Given the description of an element on the screen output the (x, y) to click on. 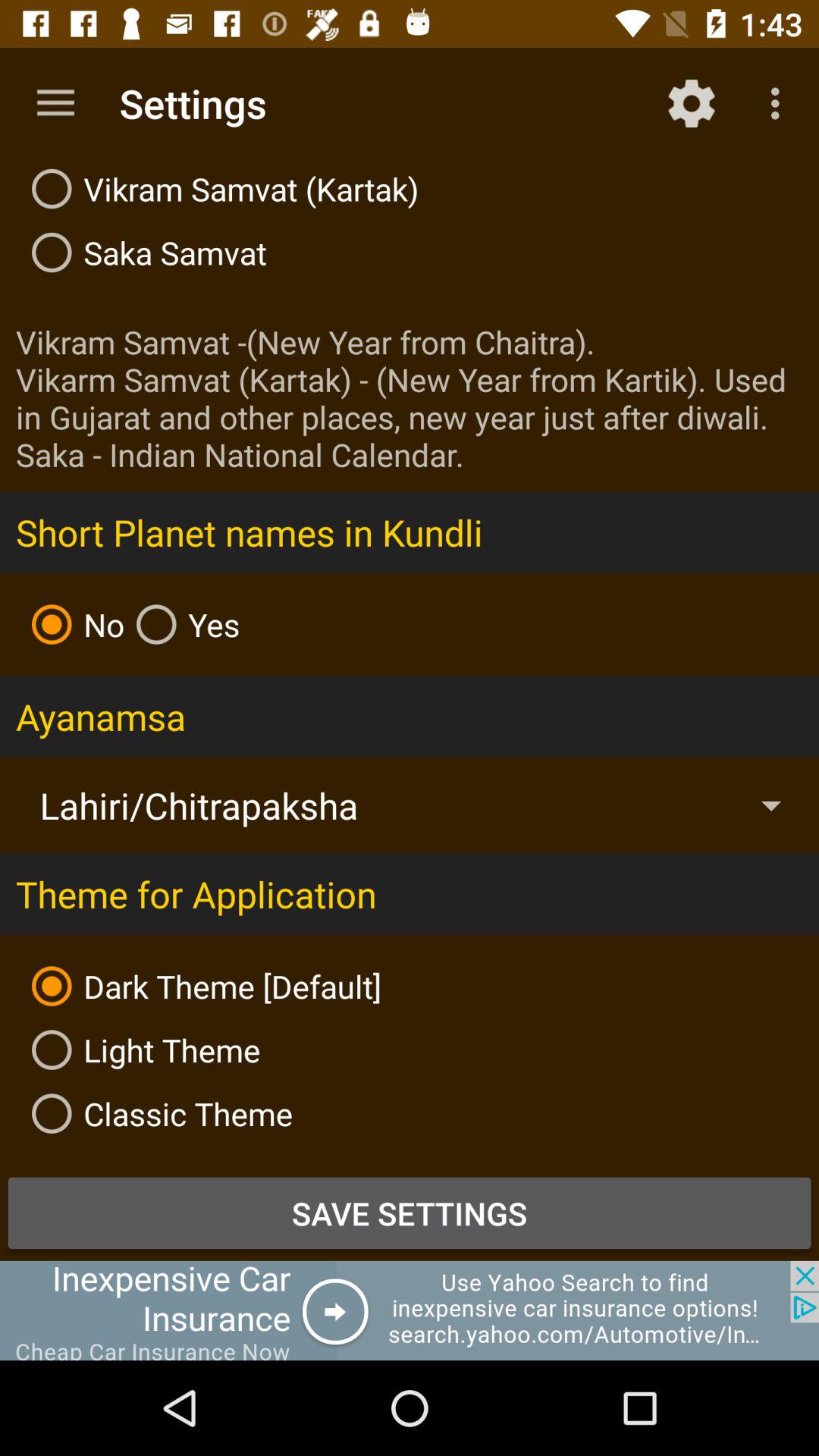
add icone (409, 1310)
